Given the description of an element on the screen output the (x, y) to click on. 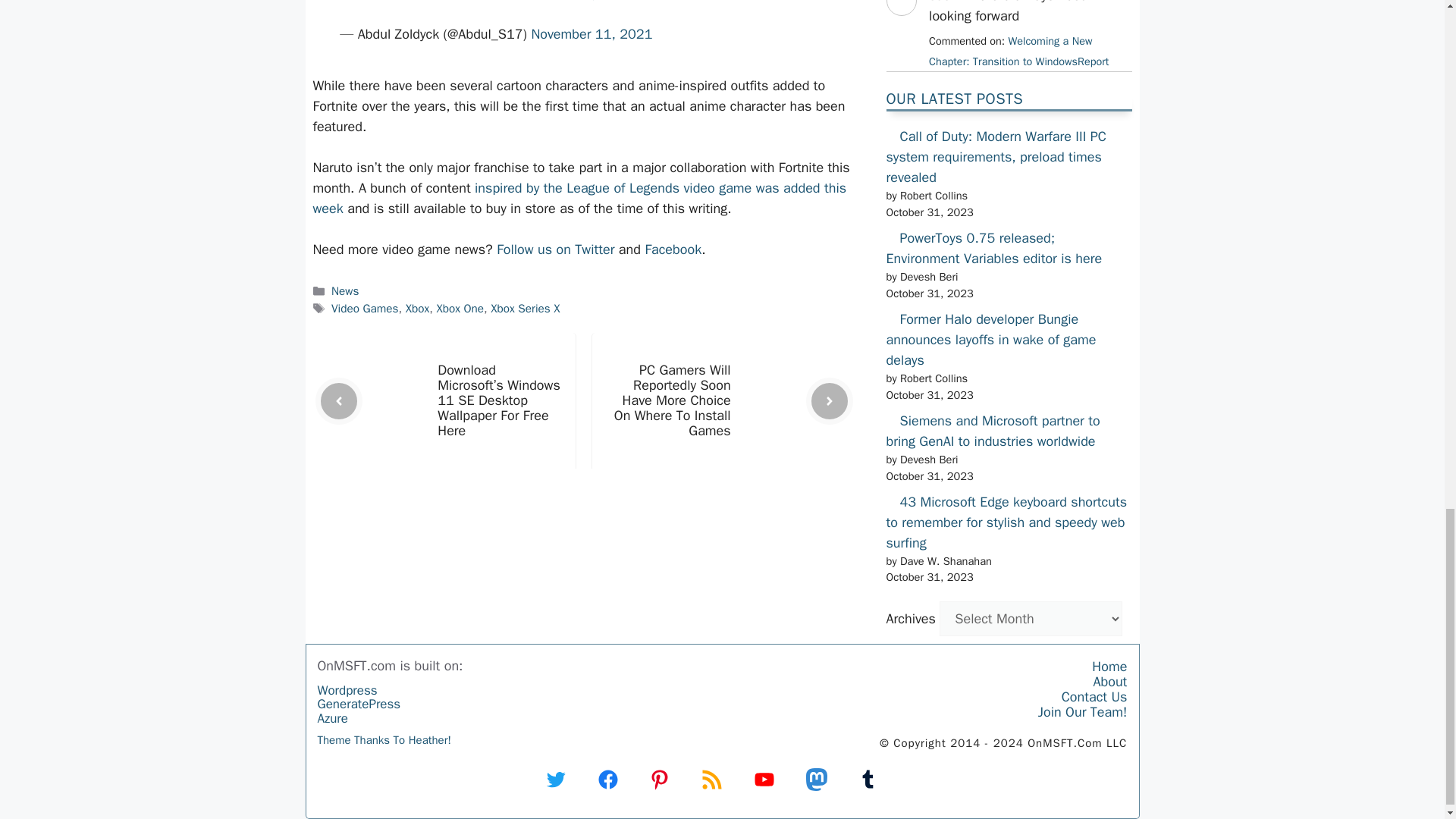
sathvik (900, 29)
May 20, 2024 (1018, 50)
